Given the description of an element on the screen output the (x, y) to click on. 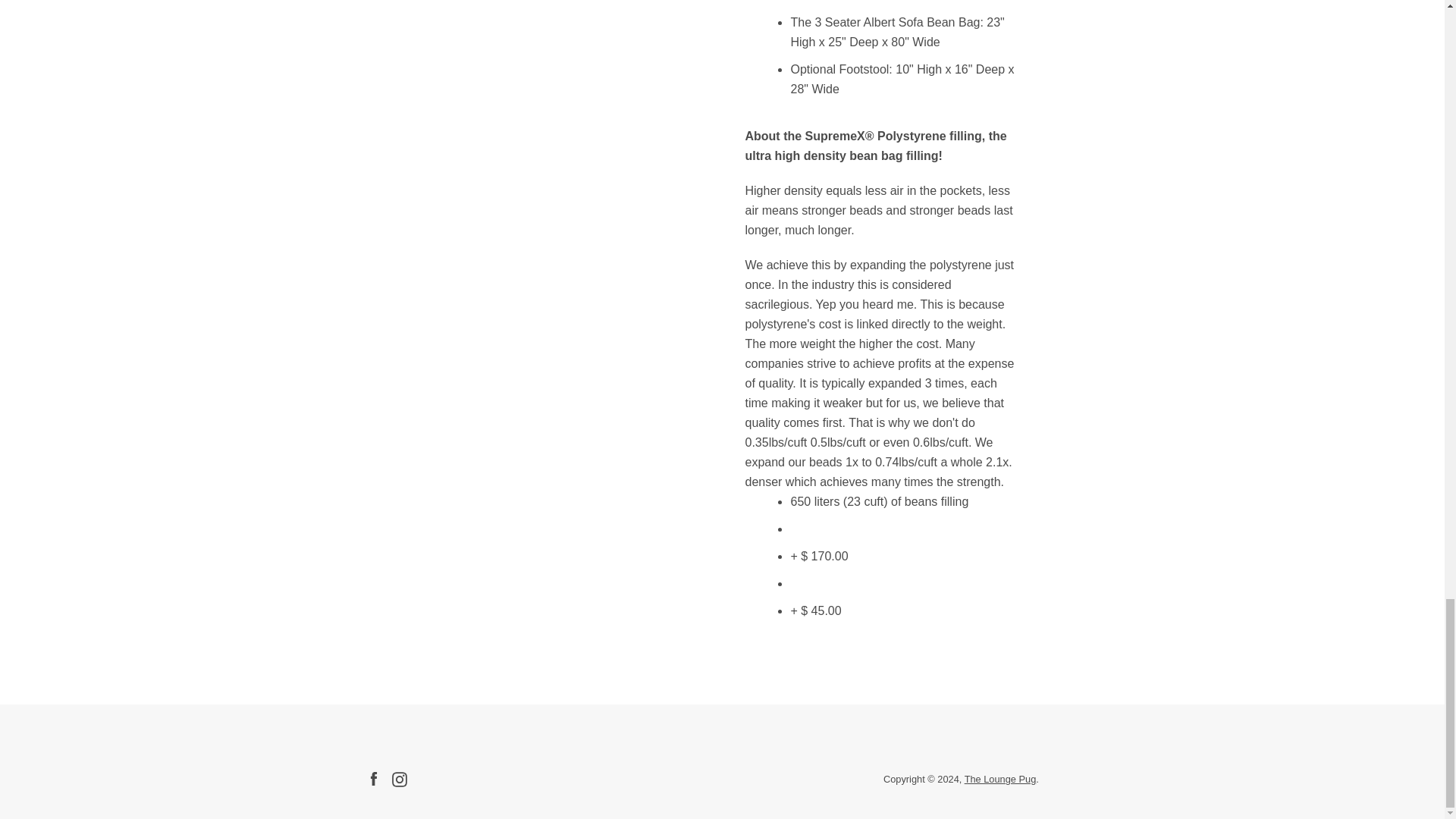
The Lounge Pug on Instagram (399, 778)
Facebook (372, 778)
Instagram (399, 778)
The Lounge Pug on Facebook (372, 778)
The Lounge Pug (999, 778)
